Given the description of an element on the screen output the (x, y) to click on. 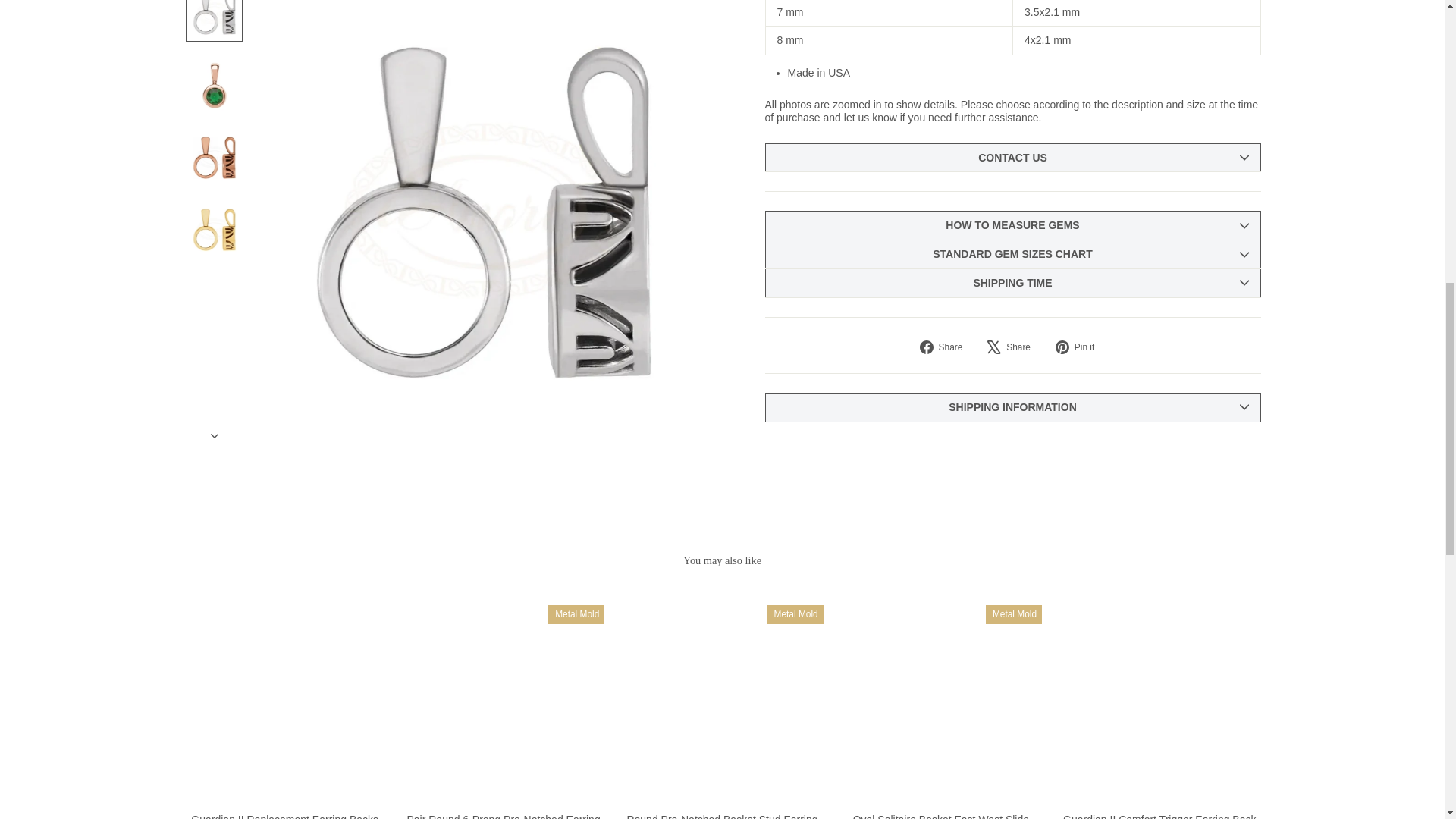
Share on Facebook (947, 346)
Pin on Pinterest (1080, 346)
Tweet on X (1014, 346)
